Given the description of an element on the screen output the (x, y) to click on. 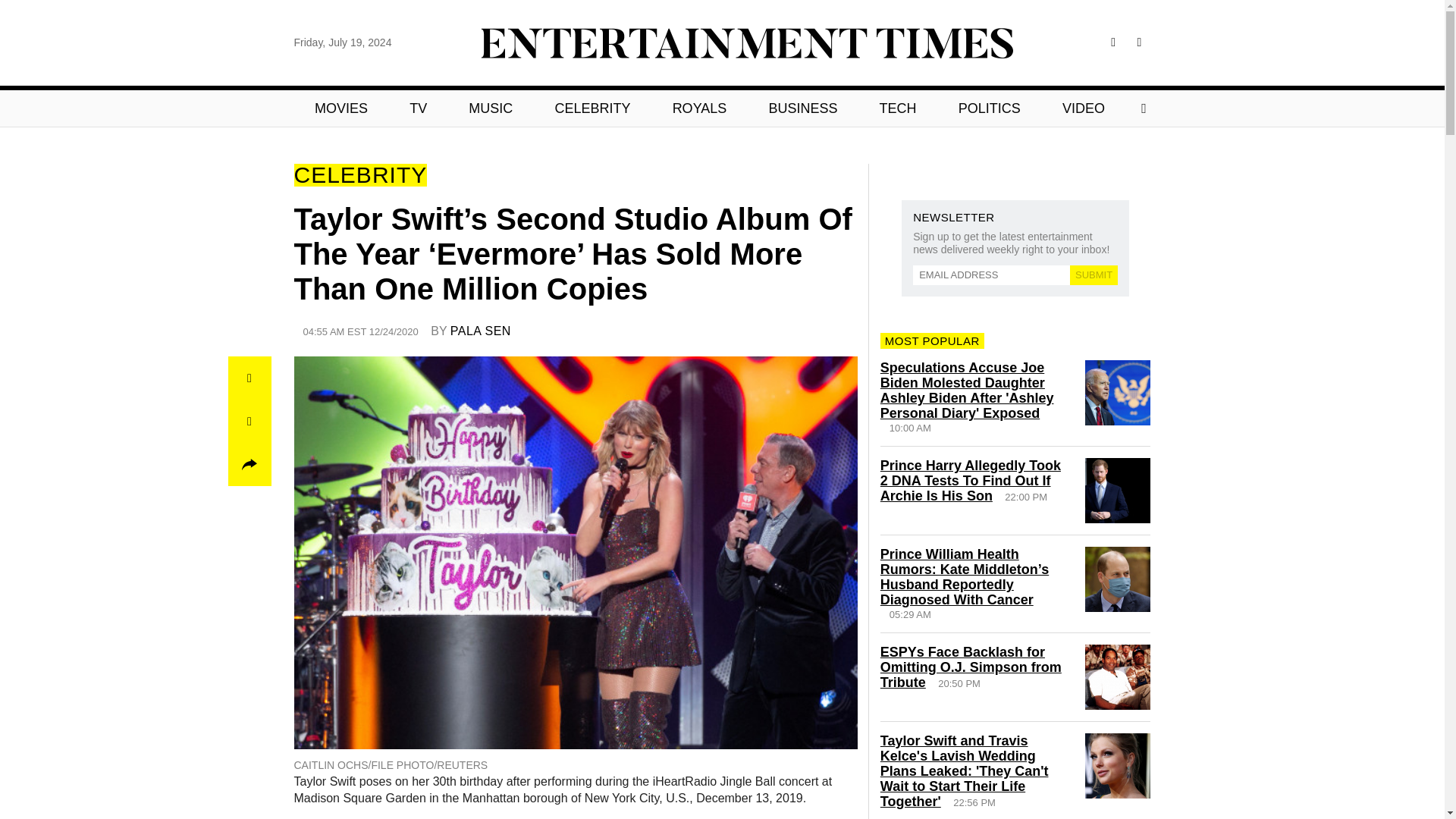
Submit (1094, 275)
MOVIES (341, 108)
CELEBRITY (592, 108)
MUSIC (491, 108)
TECH (898, 108)
ESPYs Face Backlash for Omitting O.J. Simpson from Tribute (970, 667)
POLITICS (989, 108)
BUSINESS (803, 108)
Search (435, 108)
TV (418, 108)
ROYALS (699, 108)
PALA SEN (480, 330)
VIDEO (1083, 108)
